Given the description of an element on the screen output the (x, y) to click on. 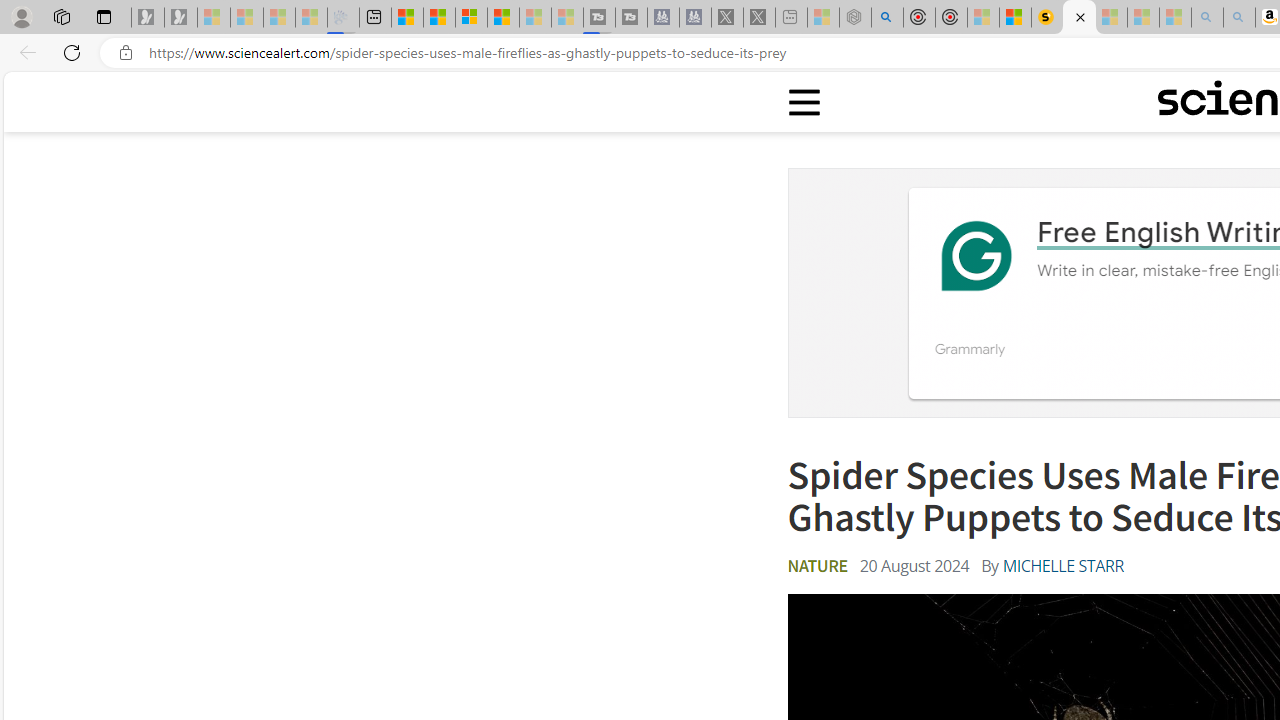
Wildlife - MSN - Sleeping (822, 17)
Amazon Echo Dot PNG - Search Images - Sleeping (1239, 17)
Nordace - Summer Adventures 2024 - Sleeping (855, 17)
Overview (471, 17)
Newsletter Sign Up - Sleeping (181, 17)
